Given the description of an element on the screen output the (x, y) to click on. 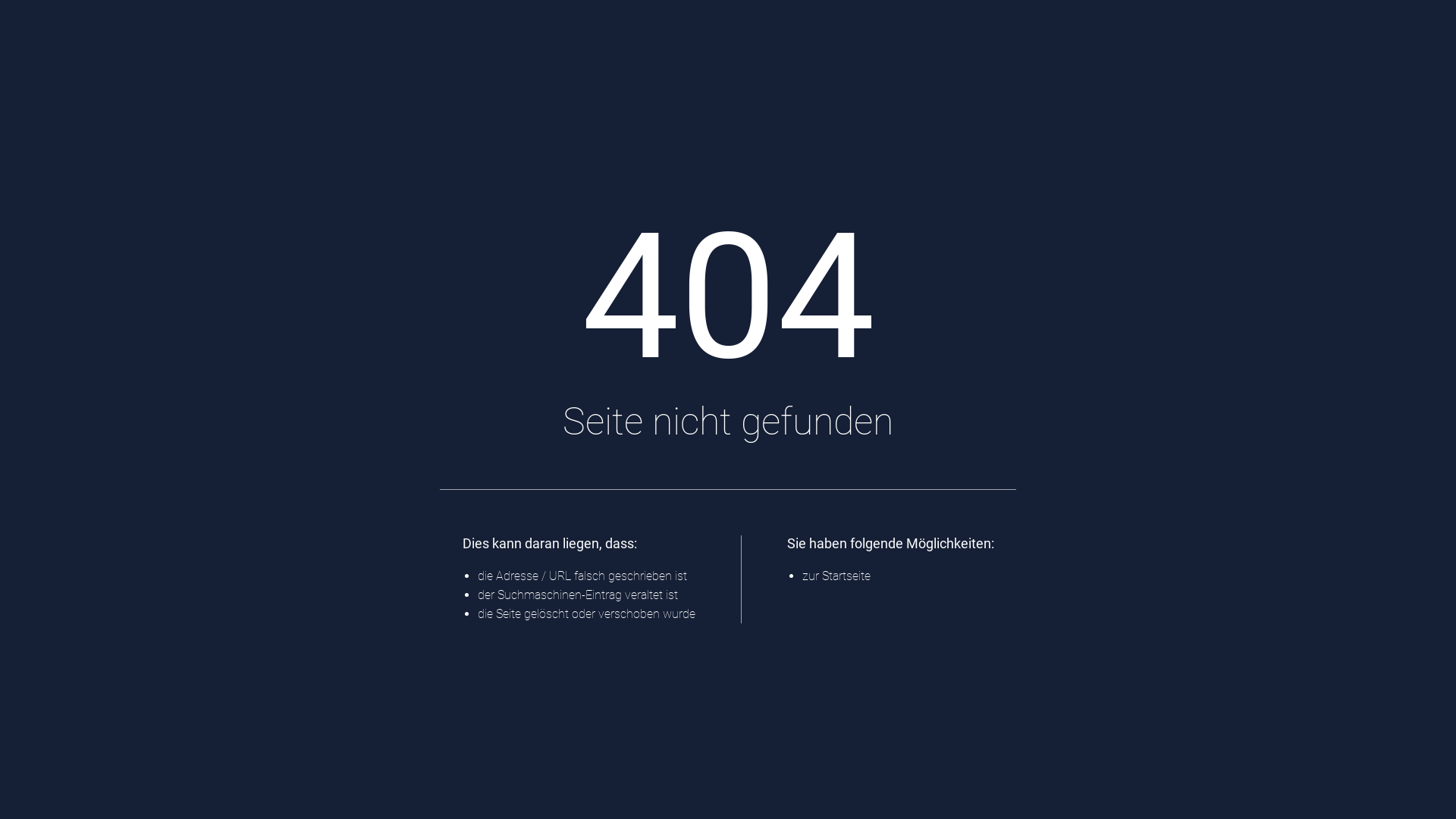
zur Startseite Element type: text (836, 575)
